Given the description of an element on the screen output the (x, y) to click on. 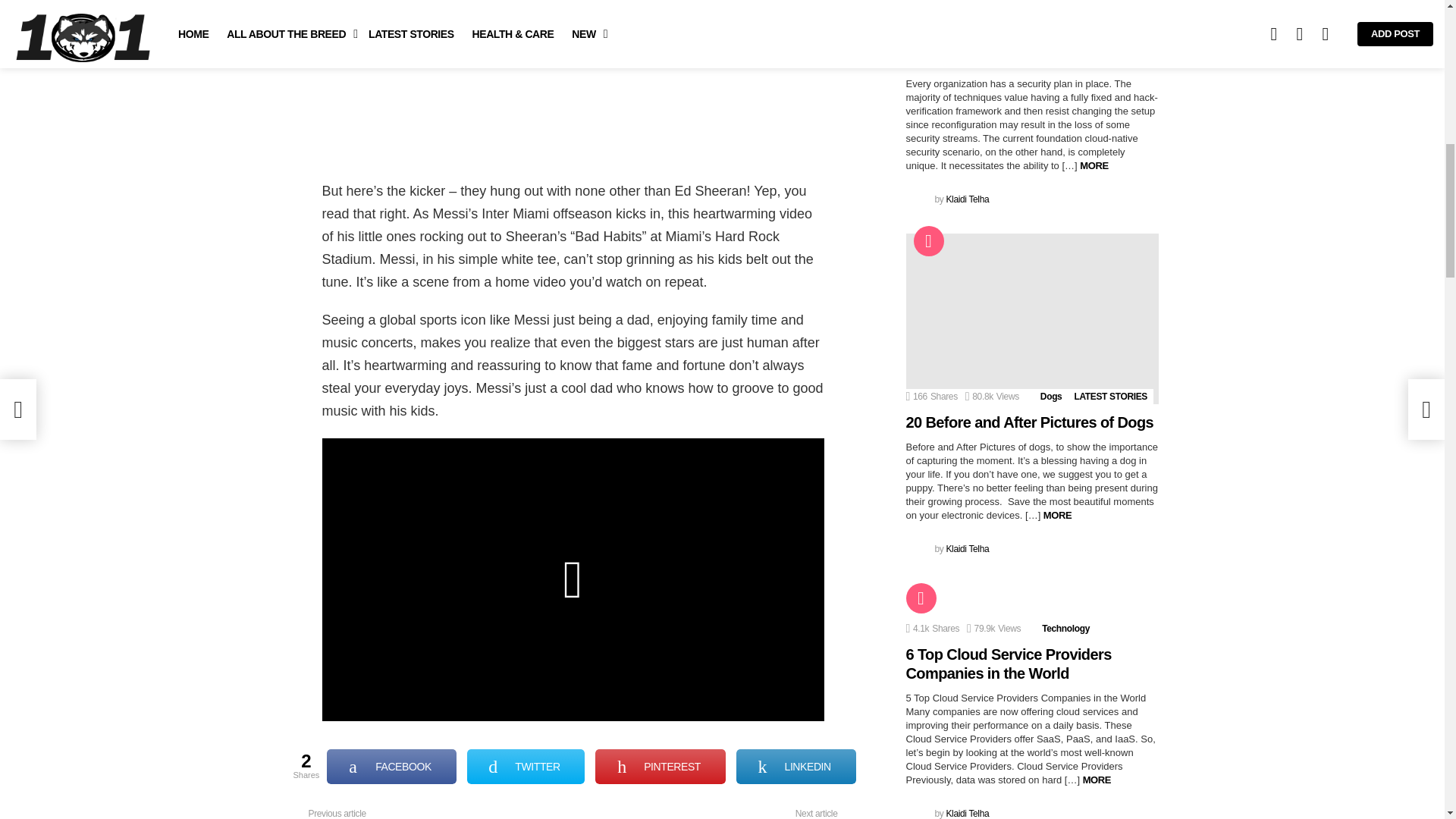
Share on Twitter (526, 766)
Share on Facebook (390, 766)
Share on Pinterest (660, 766)
Share on LinkedIn (796, 766)
